Given the description of an element on the screen output the (x, y) to click on. 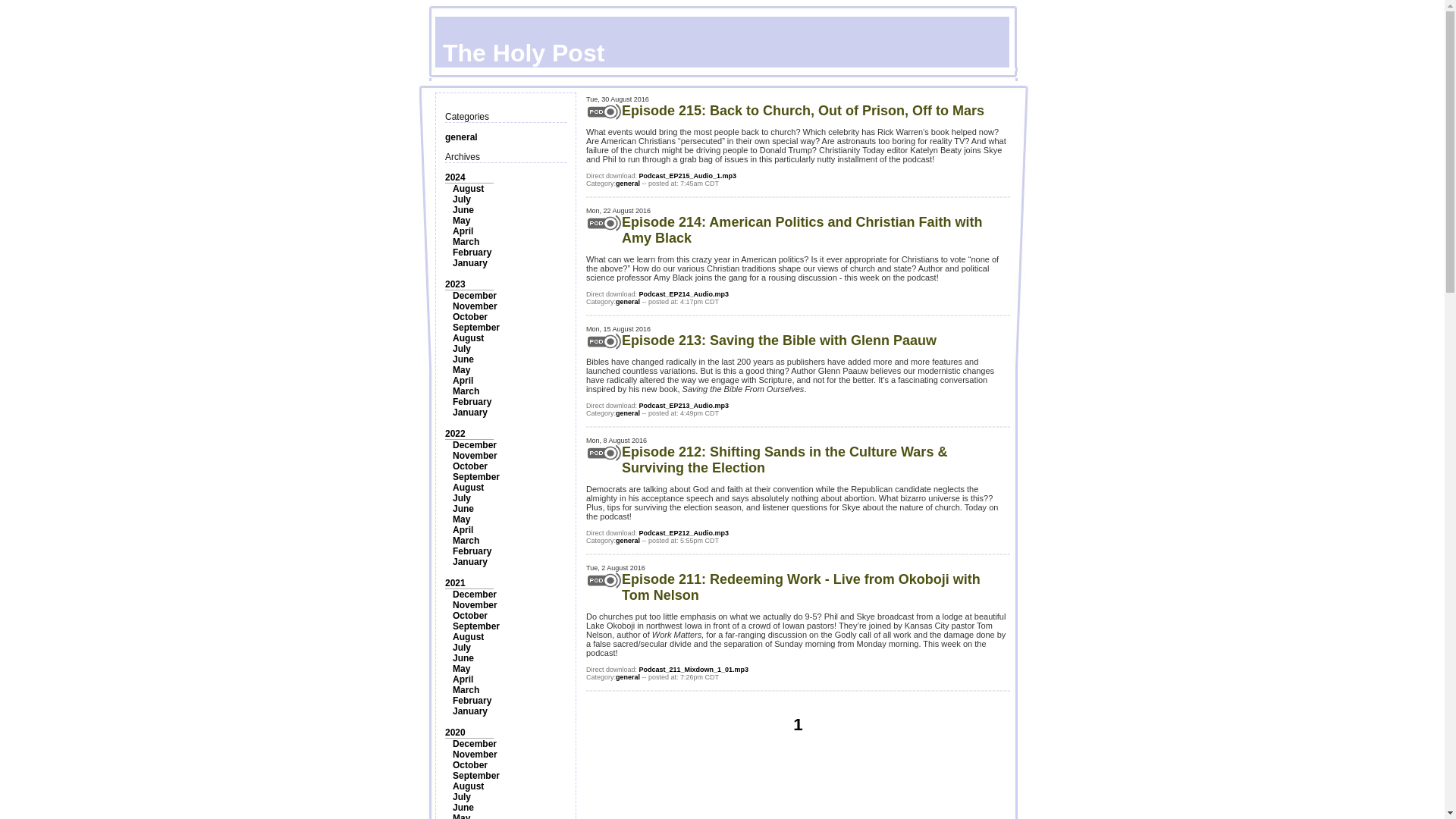
December (474, 444)
April (462, 380)
June (463, 508)
January (469, 561)
August (467, 487)
November (474, 306)
2023 (455, 284)
August (467, 337)
April (462, 231)
July (461, 199)
